Given the description of an element on the screen output the (x, y) to click on. 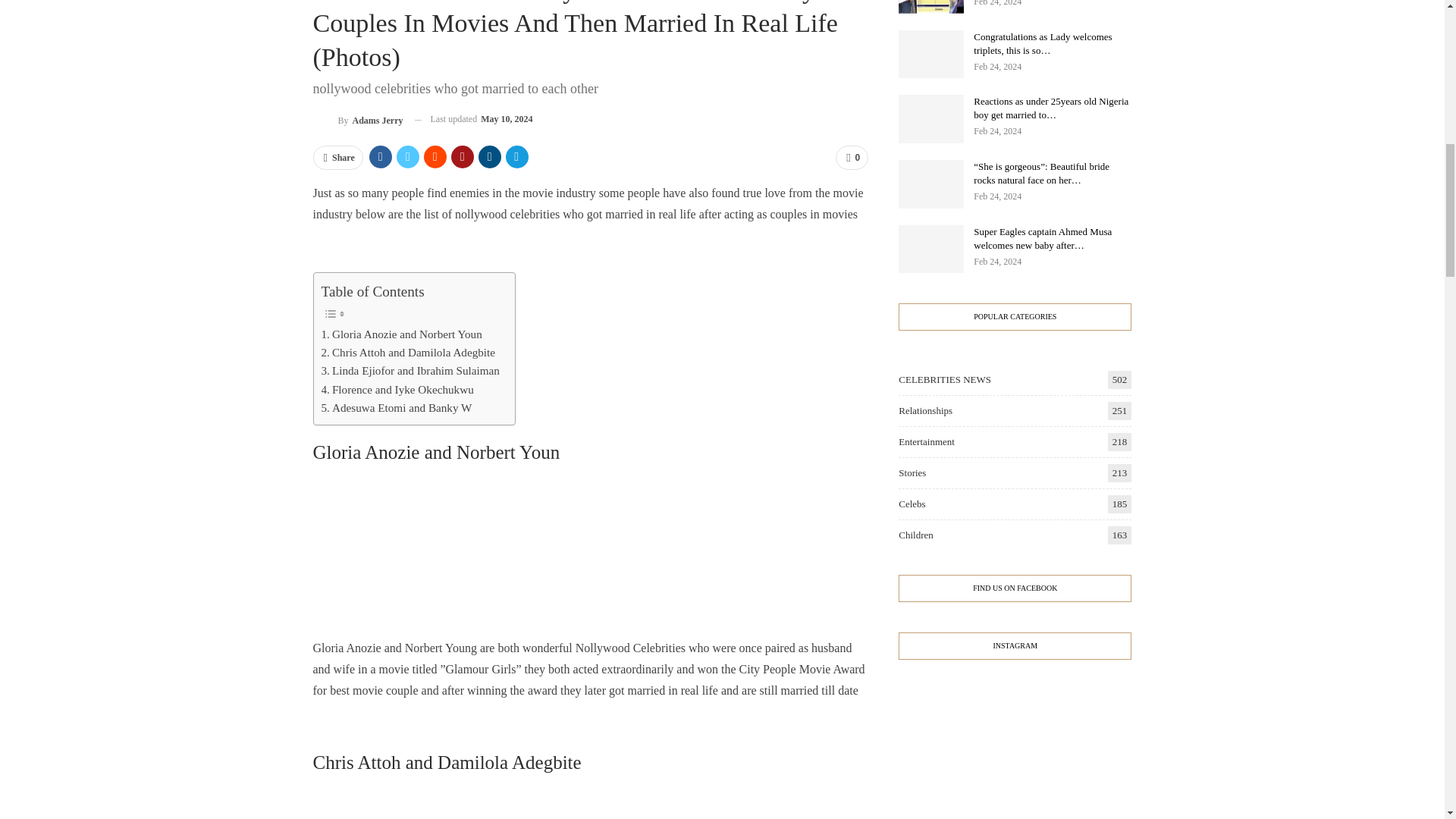
By Adams Jerry (358, 118)
Florence and Iyke Okechukwu (397, 389)
Linda Ejiofor and Ibrahim Sulaiman (410, 370)
0 (851, 157)
Gloria Anozie and Norbert Youn (401, 334)
Linda Ejiofor and Ibrahim Sulaiman (410, 370)
Adesuwa Etomi and Banky W (396, 407)
Adesuwa Etomi and Banky W (396, 407)
Browse Author Articles (358, 118)
Chris Attoh and Damilola Adegbite (408, 352)
Gloria Anozie and Norbert Youn (401, 334)
Chris Attoh and Damilola Adegbite (408, 352)
Florence and Iyke Okechukwu (397, 389)
